Given the description of an element on the screen output the (x, y) to click on. 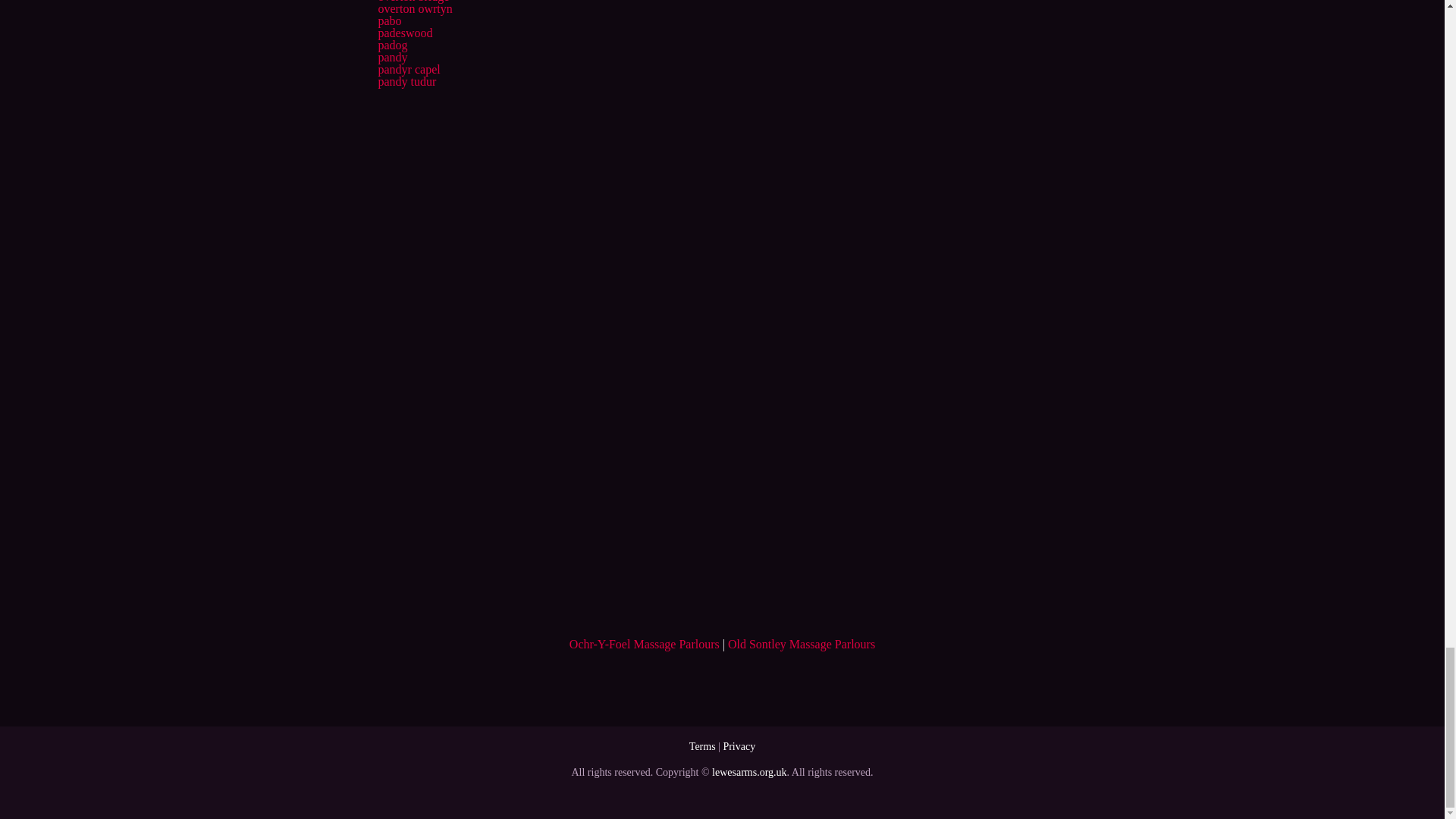
Privacy (738, 746)
lewesarms.org.uk (749, 772)
Ochr-Y-Foel Massage Parlours (644, 644)
overton bridge (412, 1)
overton owrtyn (414, 8)
pandy (392, 56)
Terms (702, 746)
pandy tudur (406, 81)
padeswood (404, 32)
Terms (702, 746)
padog (392, 44)
pandyr capel (408, 69)
pabo (389, 20)
Old Sontley Massage Parlours (801, 644)
Privacy (738, 746)
